Given the description of an element on the screen output the (x, y) to click on. 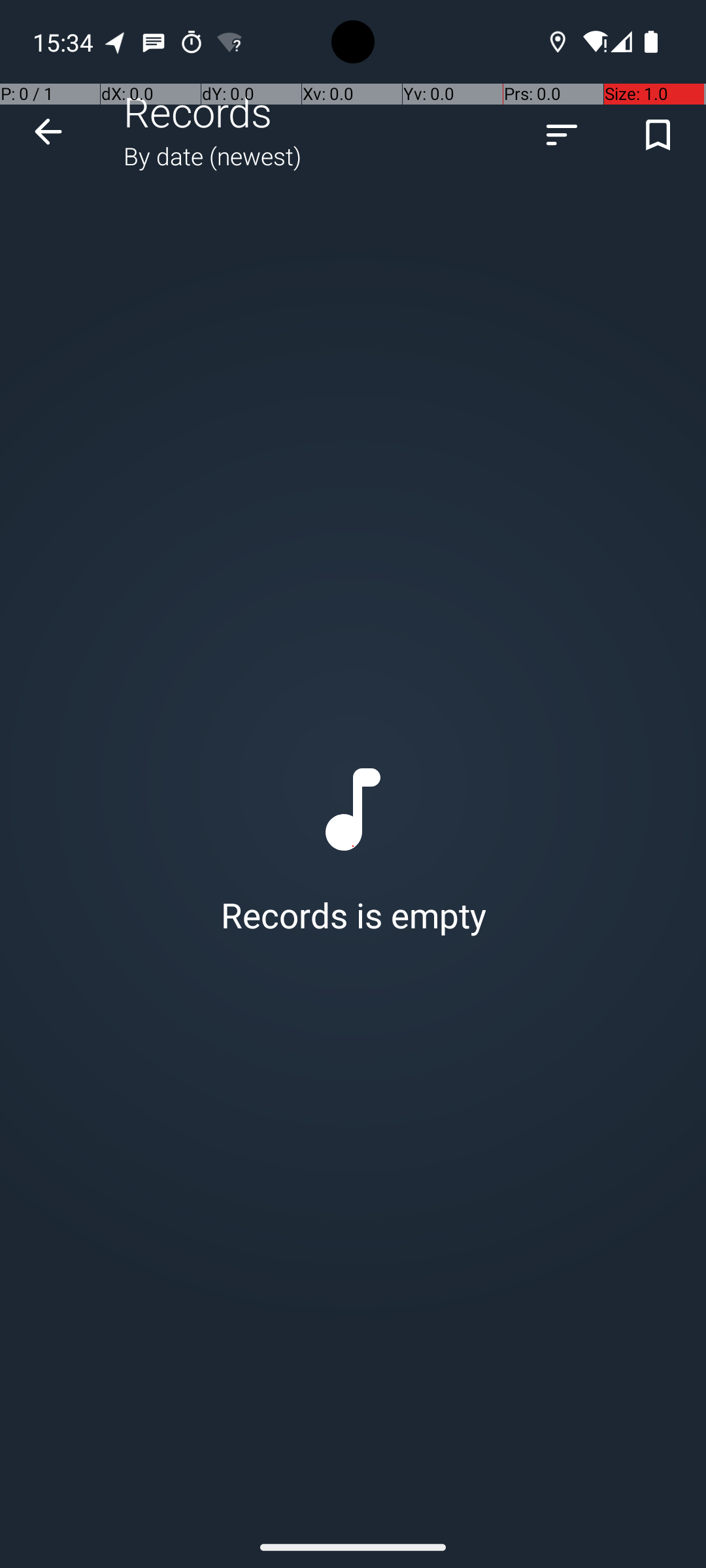
Records Element type: android.widget.TextView (198, 111)
By date (newest) Element type: android.widget.TextView (212, 155)
Records is empty Element type: android.widget.TextView (352, 846)
